Given the description of an element on the screen output the (x, y) to click on. 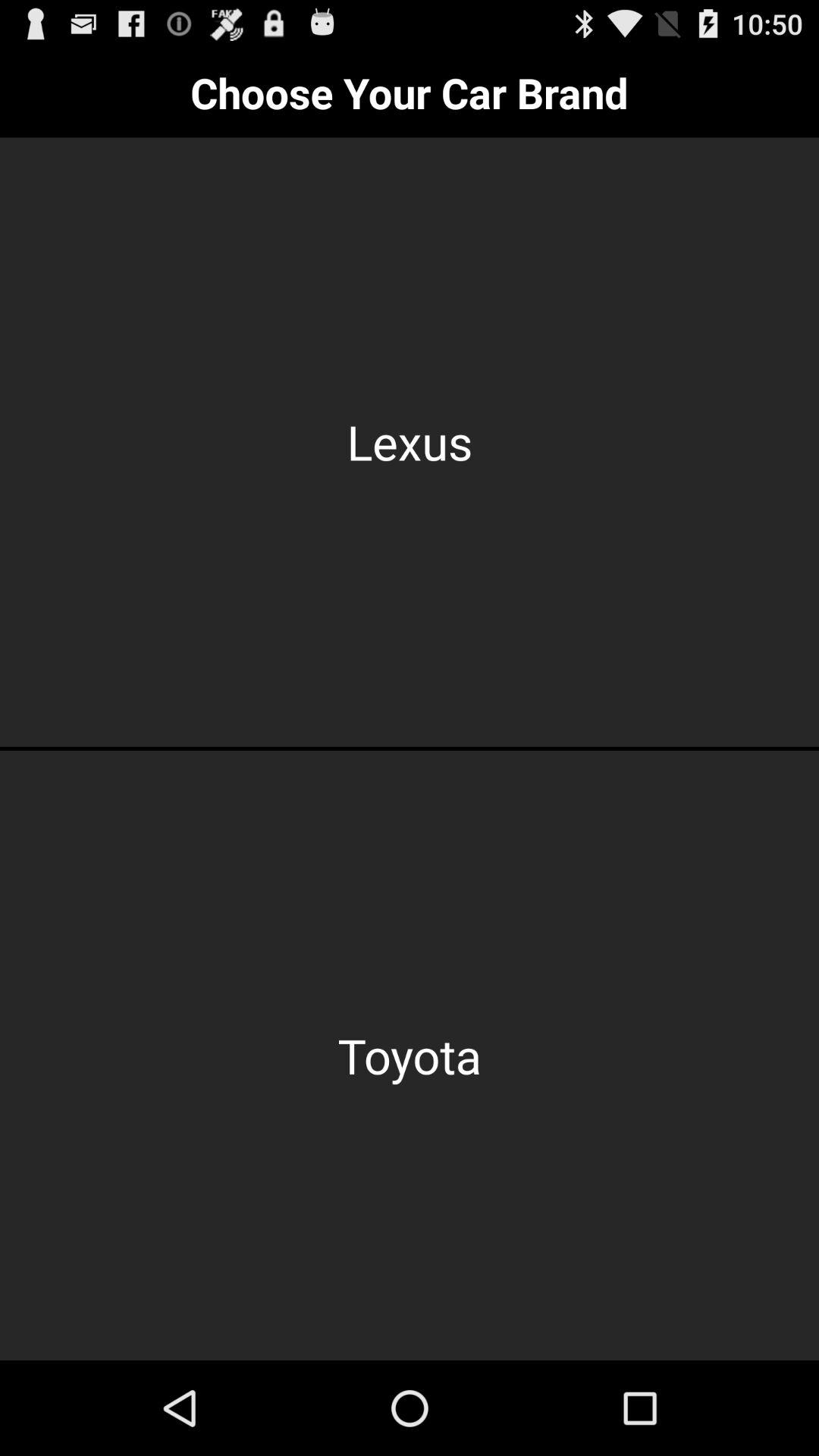
tap item at the bottom (409, 1055)
